Given the description of an element on the screen output the (x, y) to click on. 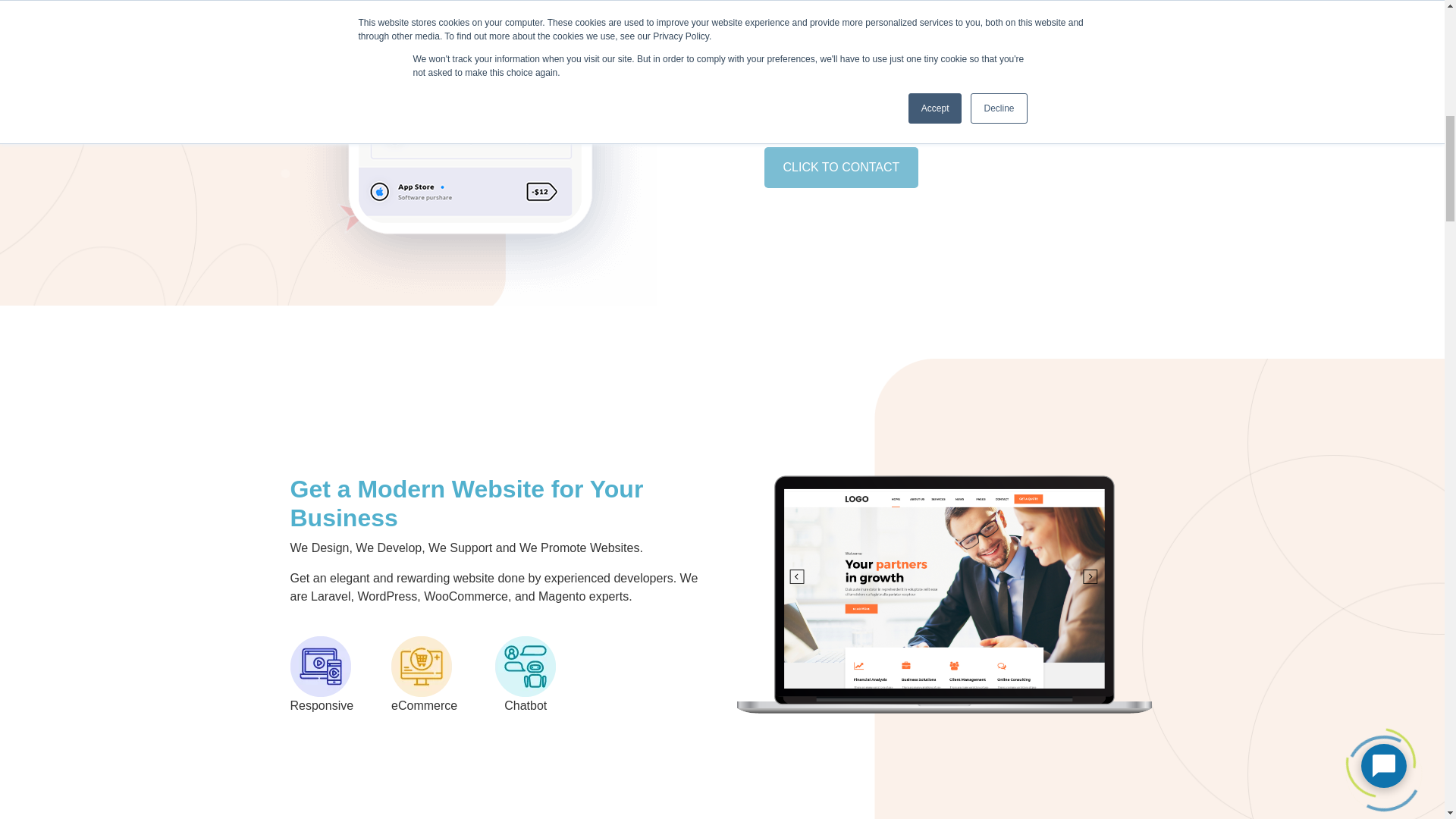
CLICK TO CONTACT (841, 167)
